Given the description of an element on the screen output the (x, y) to click on. 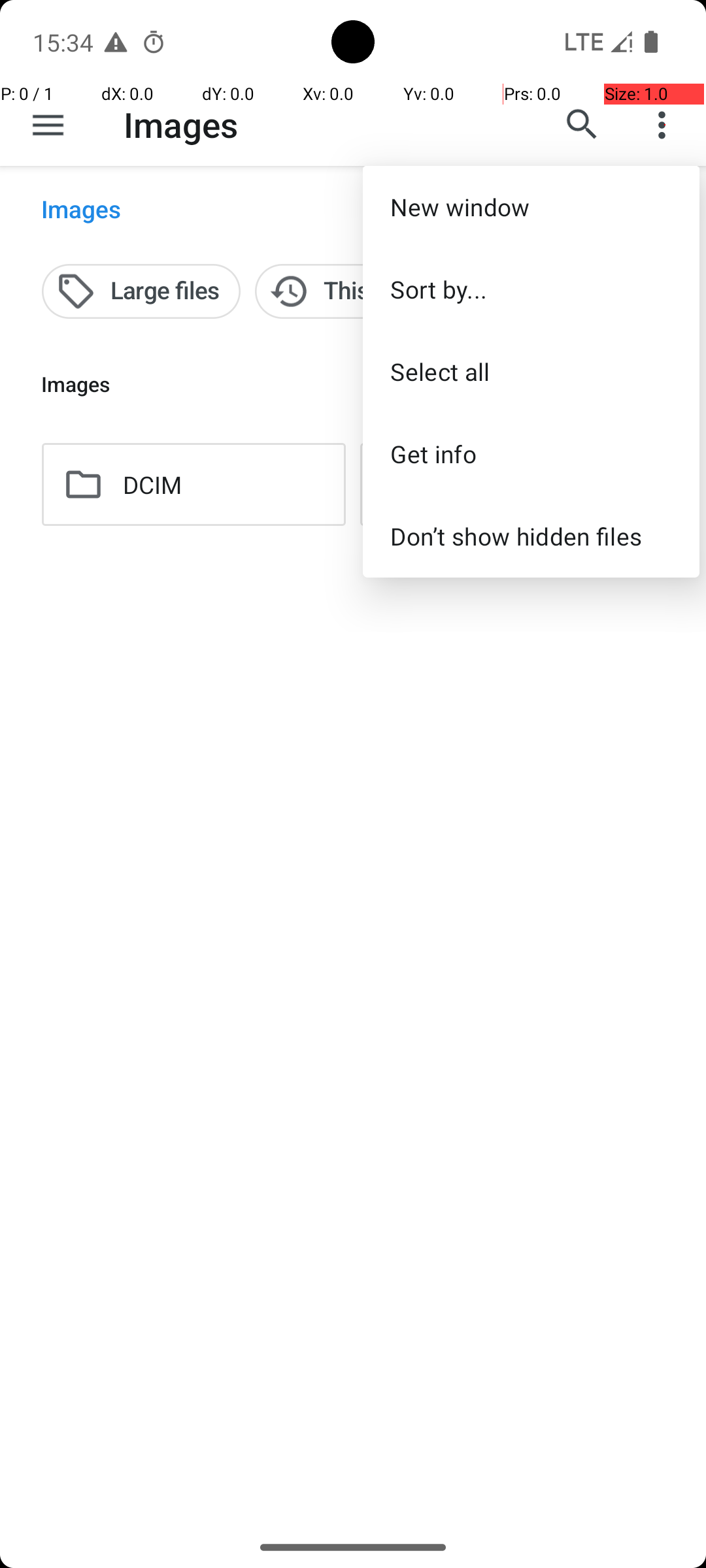
New window Element type: android.widget.TextView (531, 206)
Sort by... Element type: android.widget.TextView (531, 288)
Select all Element type: android.widget.TextView (531, 371)
Get info Element type: android.widget.TextView (531, 453)
Don’t show hidden files Element type: android.widget.TextView (531, 535)
